Given the description of an element on the screen output the (x, y) to click on. 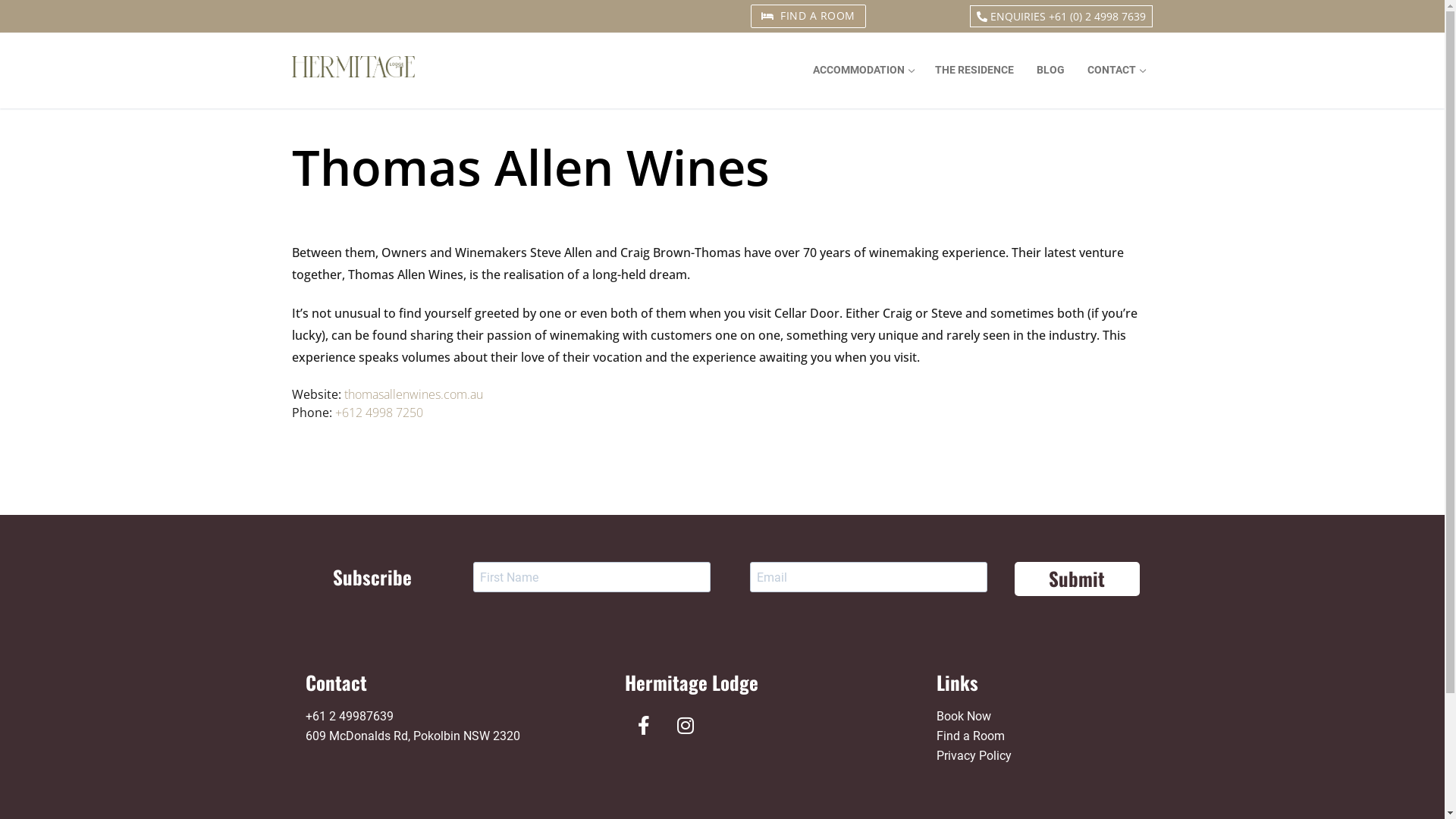
609 McDonalds Rd, Pokolbin NSW 2320 Element type: text (411, 735)
Find a Room Element type: text (970, 735)
CONTACT
  Element type: text (1114, 70)
Submit Element type: text (1076, 578)
+61 2 49987639 Element type: text (348, 716)
ENQUIRIES +61 (0) 2 4998 7639 Element type: text (1060, 16)
Book Now Element type: text (963, 716)
BLOG Element type: text (1050, 70)
THE RESIDENCE Element type: text (974, 70)
+612 4998 7250 Element type: text (379, 412)
ACCOMMODATION
  Element type: text (861, 70)
FIND A ROOM Element type: text (808, 16)
Privacy Policy Element type: text (973, 755)
thomasallenwines.com.au Element type: text (413, 393)
